Given the description of an element on the screen output the (x, y) to click on. 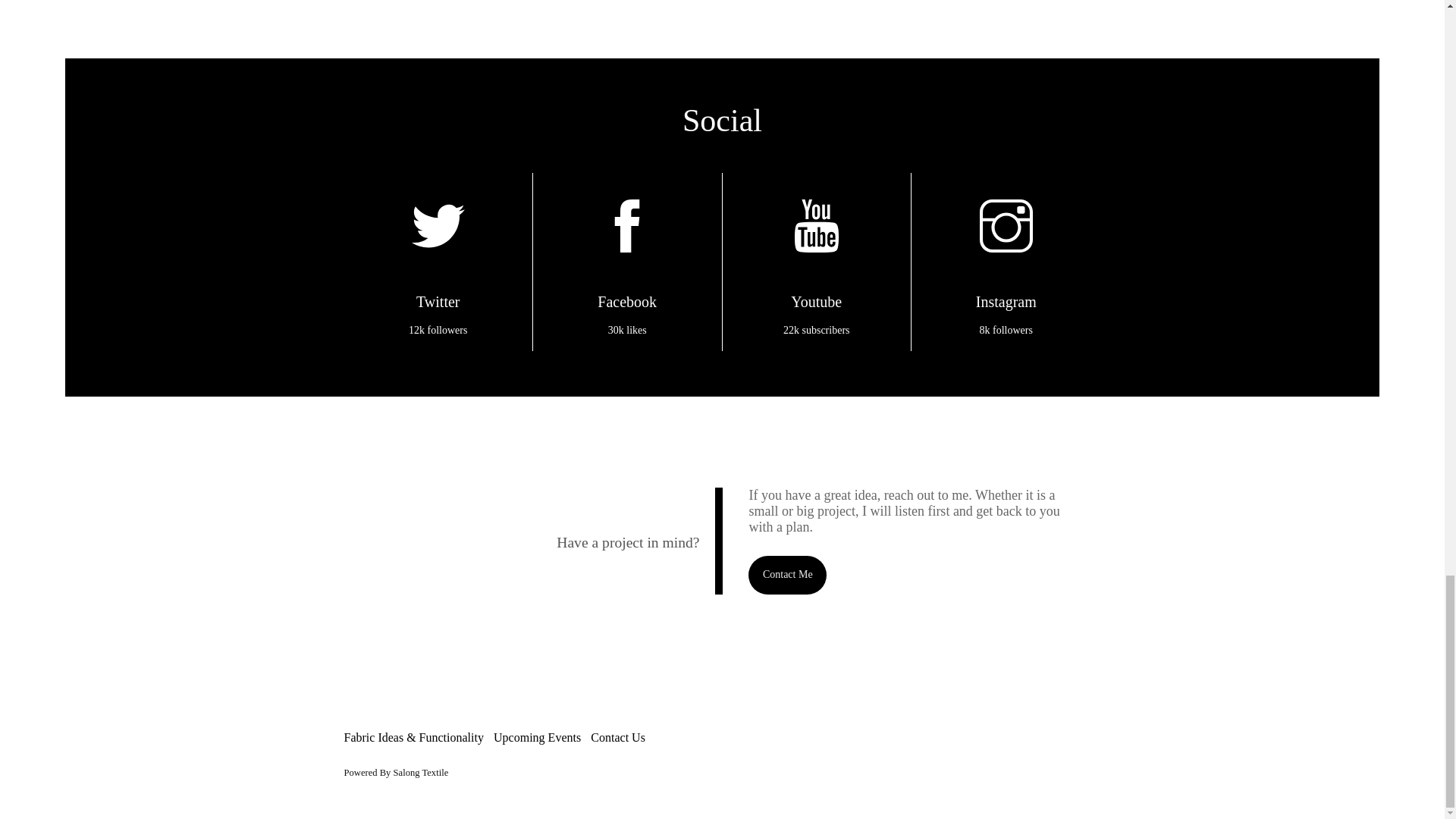
Contact Me (787, 575)
